Given the description of an element on the screen output the (x, y) to click on. 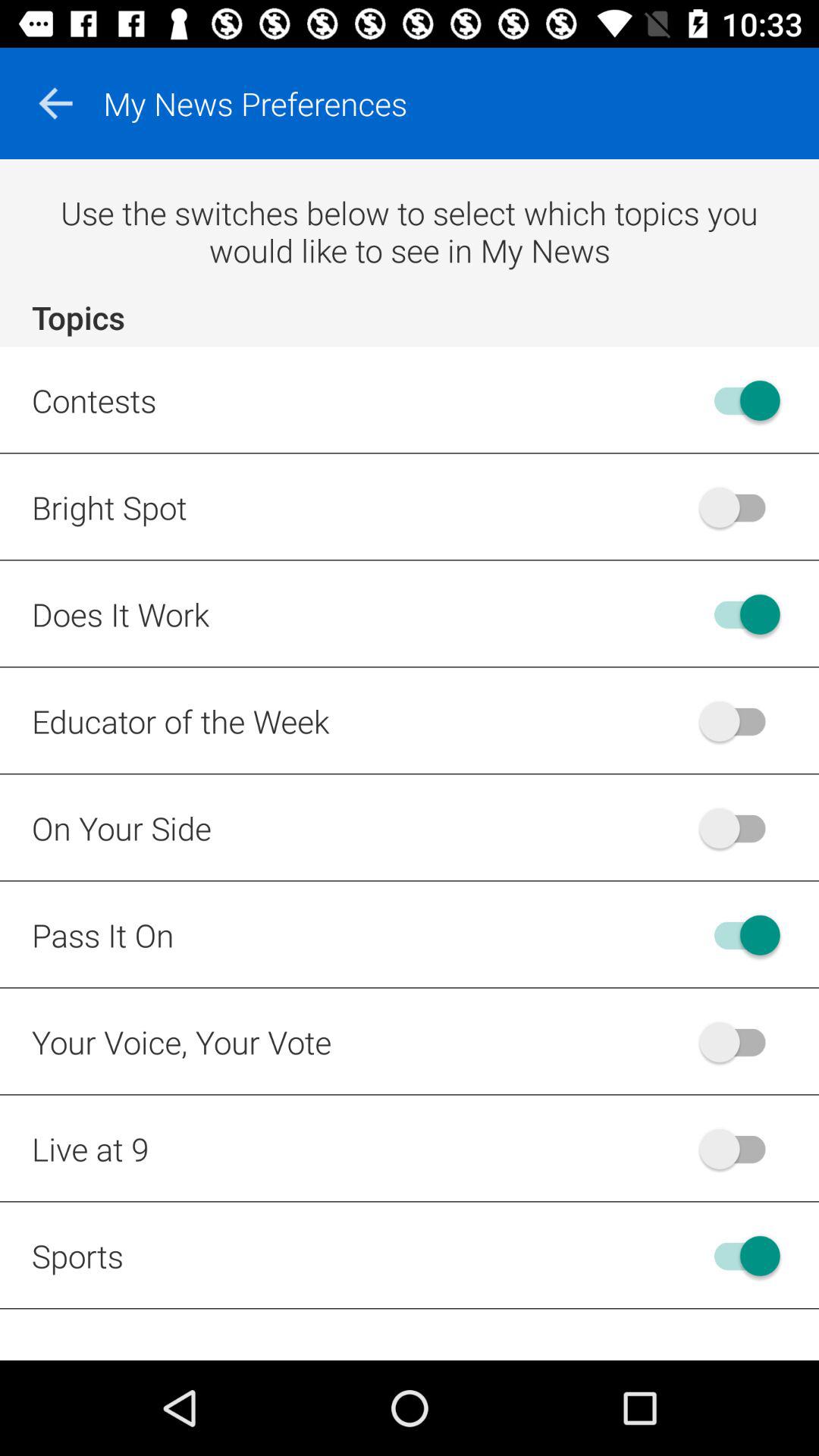
toggle on your side (739, 827)
